Given the description of an element on the screen output the (x, y) to click on. 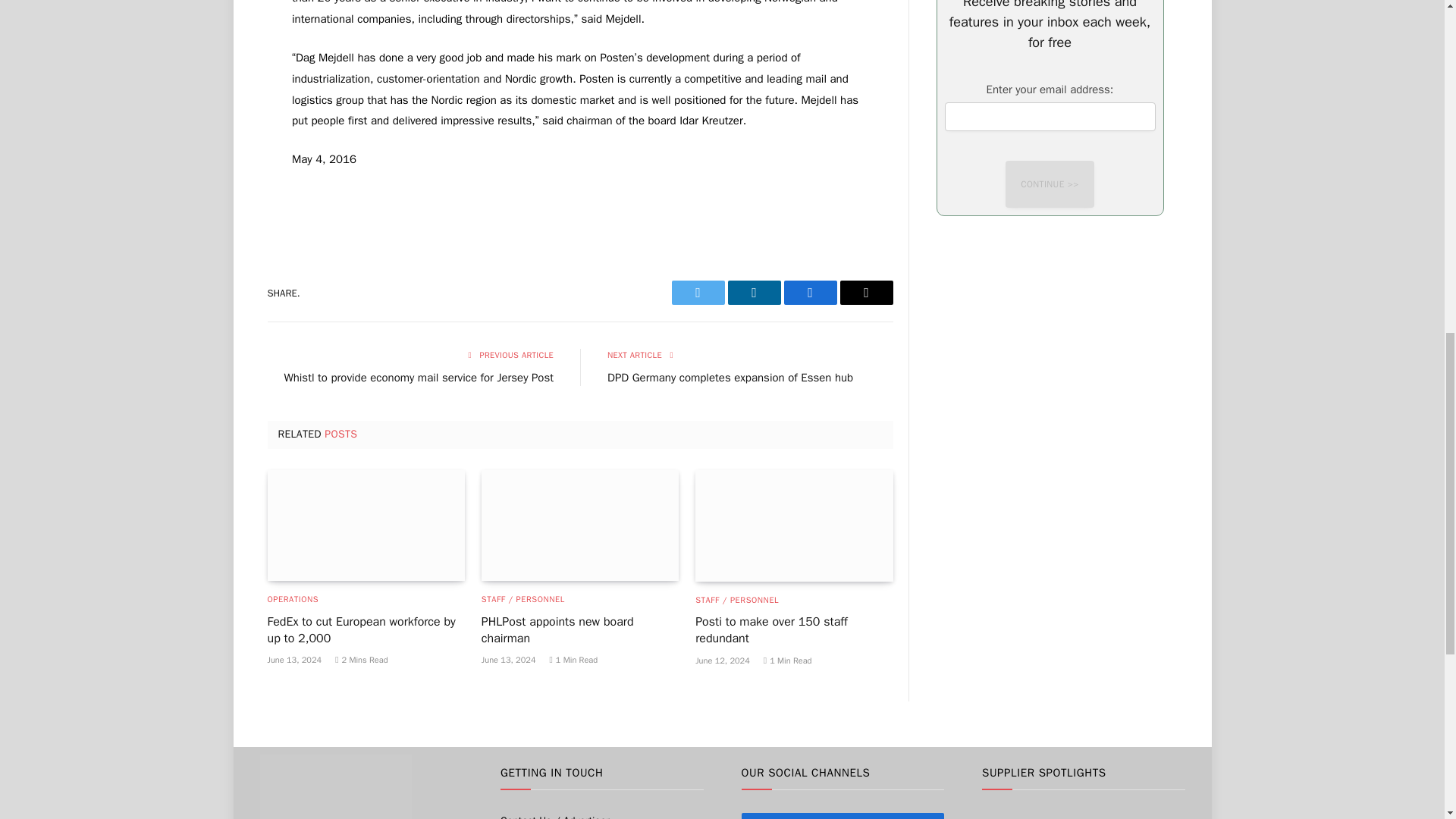
Share on Facebook (810, 292)
Share on LinkedIn (754, 292)
Share on Twitter (698, 292)
